Given the description of an element on the screen output the (x, y) to click on. 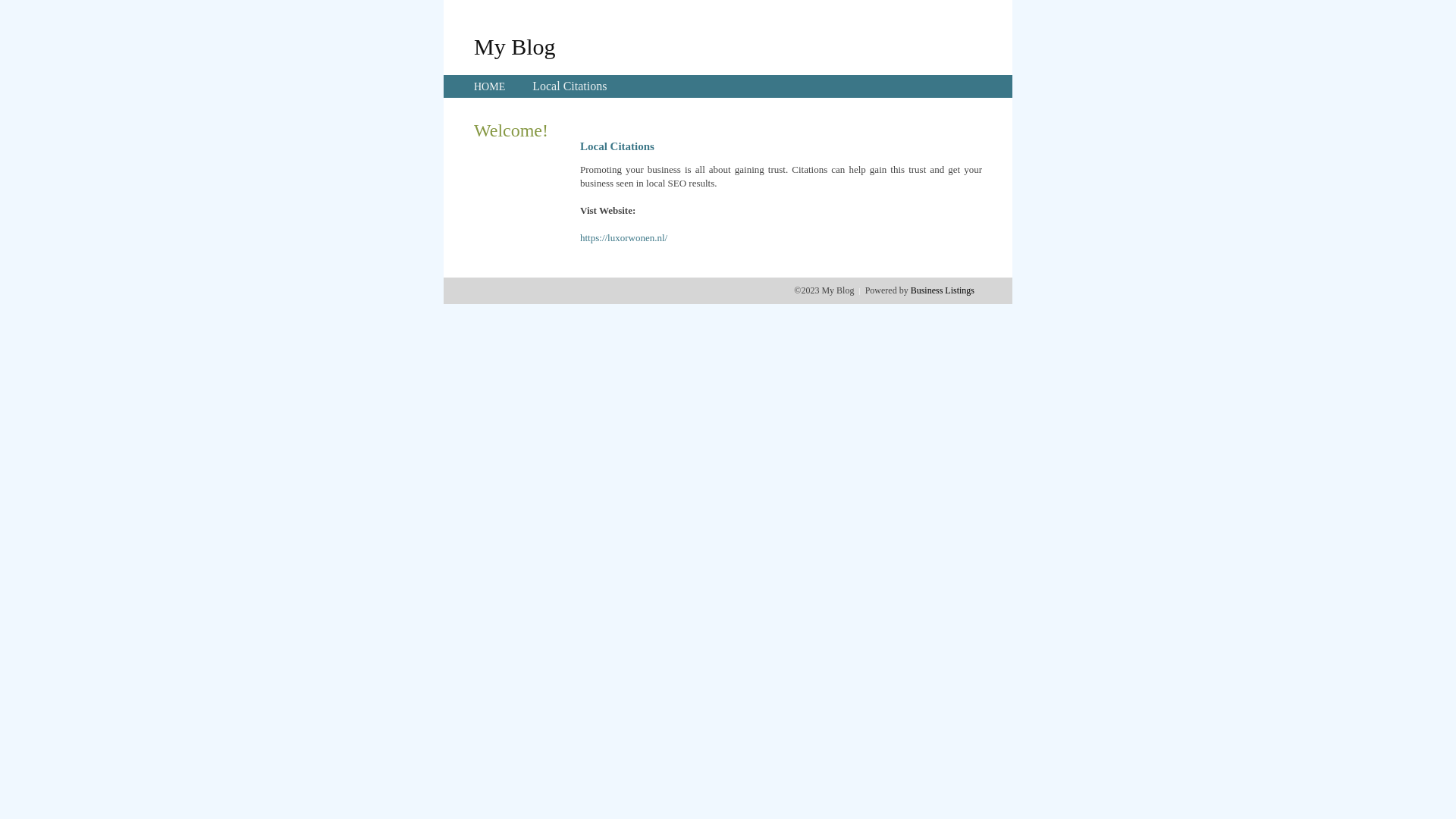
Business Listings Element type: text (942, 290)
My Blog Element type: text (514, 46)
Local Citations Element type: text (569, 85)
https://luxorwonen.nl/ Element type: text (623, 237)
HOME Element type: text (489, 86)
